Given the description of an element on the screen output the (x, y) to click on. 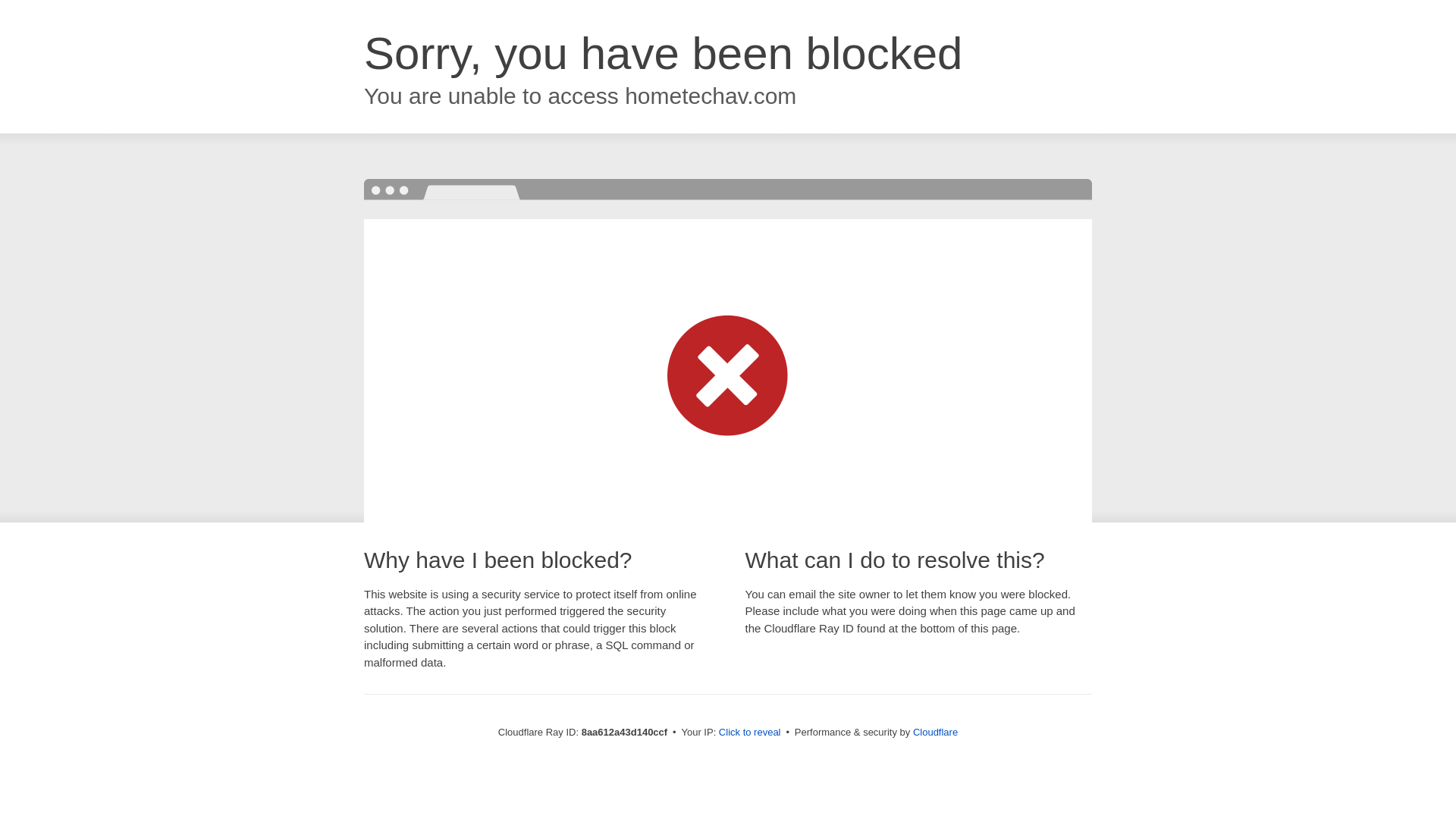
Click to reveal (749, 732)
Cloudflare (935, 731)
